Given the description of an element on the screen output the (x, y) to click on. 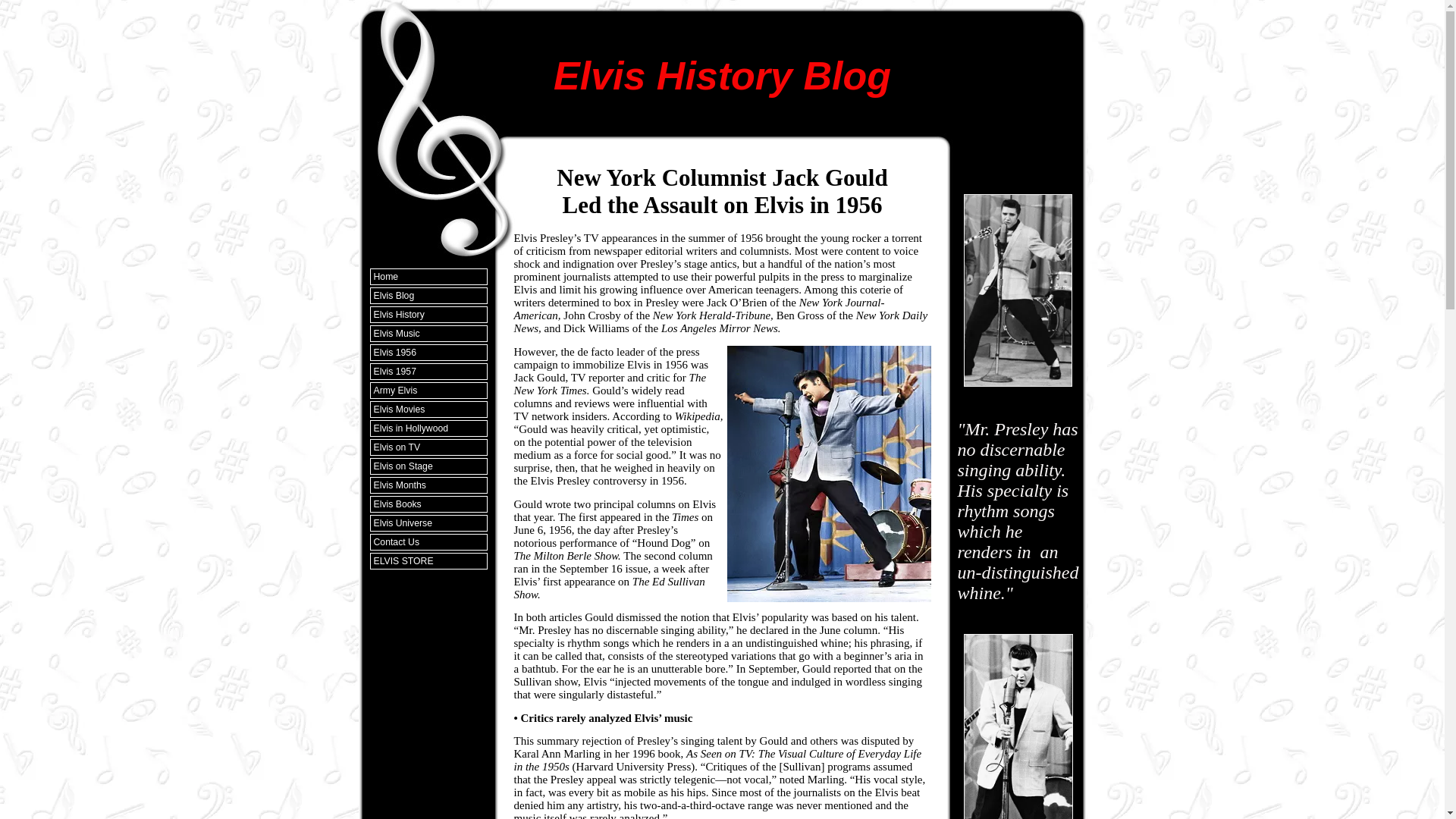
Elvis on Stage (428, 466)
Elvis in Hollywood (428, 428)
Elvis 1956 (428, 352)
Home (428, 276)
Elvis Movies (428, 409)
Elvis Universe (428, 523)
Contact Us (428, 541)
Elvis 1957 (428, 371)
ELVIS STORE (428, 560)
Elvis History (428, 314)
Army Elvis (428, 390)
Elvis Blog (428, 295)
Elvis Months (428, 484)
Elvis Books (428, 504)
Elvis Music (428, 333)
